Given the description of an element on the screen output the (x, y) to click on. 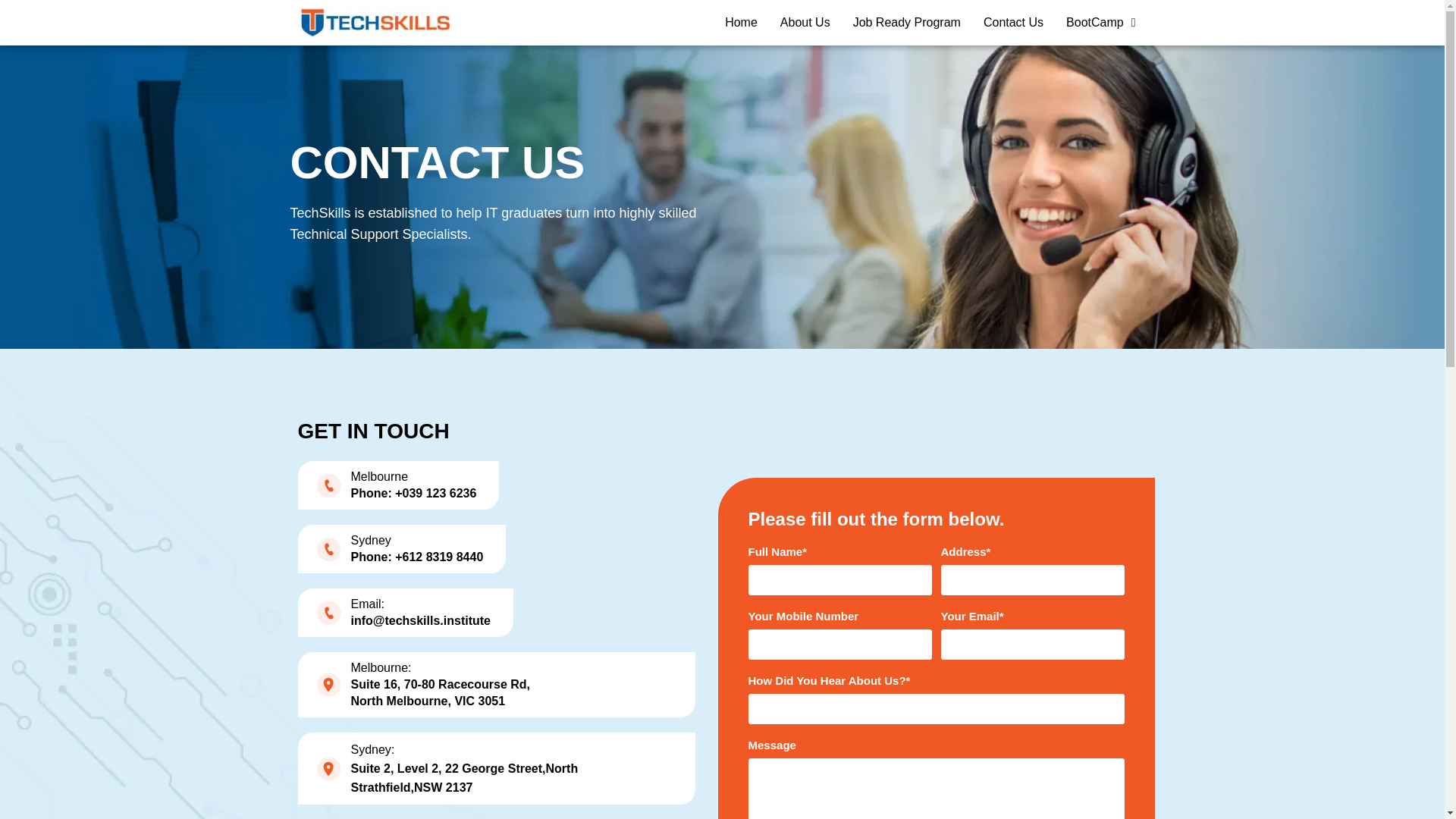
BootCamp (1100, 22)
About Us (804, 22)
Contact Us (1013, 22)
Job Ready Program (906, 22)
techskills-logo (375, 21)
Home (740, 22)
